Given the description of an element on the screen output the (x, y) to click on. 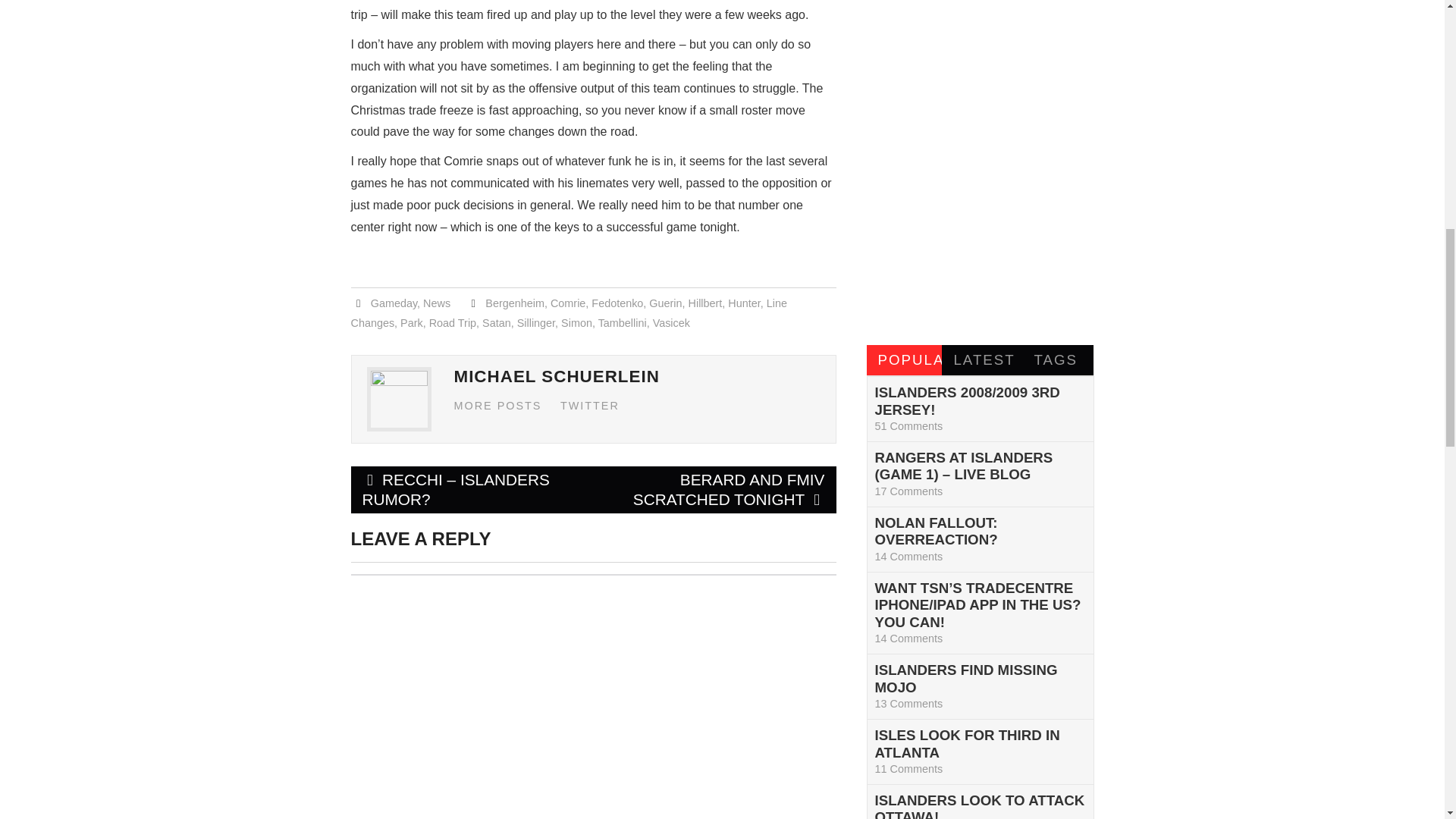
Bergenheim (514, 303)
Guerin (665, 303)
Line Changes (568, 313)
Vasicek (671, 322)
Gameday (393, 303)
Tambellini (622, 322)
TWITTER (590, 405)
Simon (576, 322)
Satan (496, 322)
Hunter (744, 303)
